Given the description of an element on the screen output the (x, y) to click on. 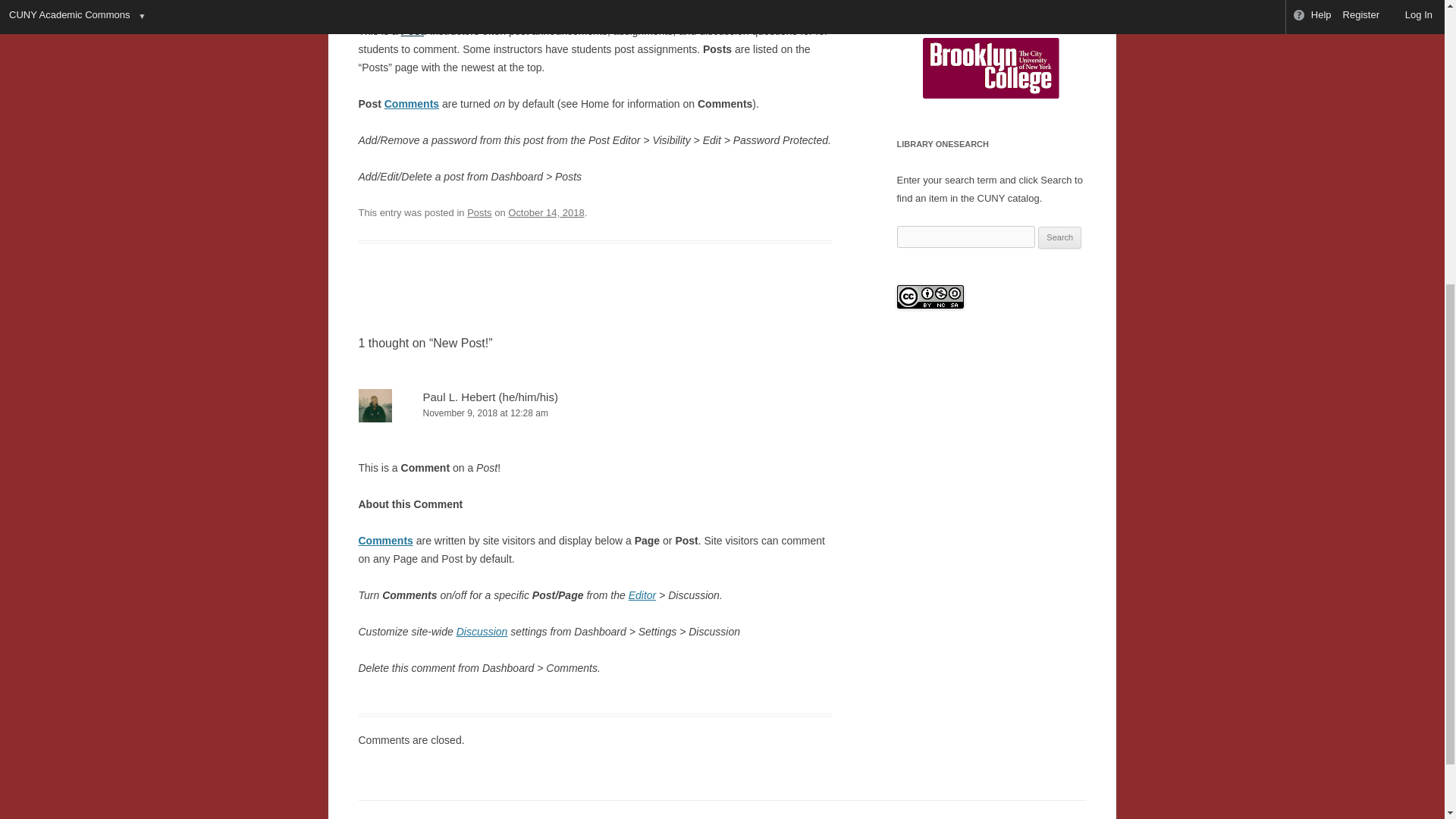
Posts (479, 212)
Search (1033, 0)
Search (1059, 237)
8:28 pm (545, 212)
Discussion (482, 631)
Comments (411, 103)
Search (1059, 237)
Editor (642, 594)
Brooklyn College (991, 67)
November 9, 2018 at 12:28 am (594, 413)
